Given the description of an element on the screen output the (x, y) to click on. 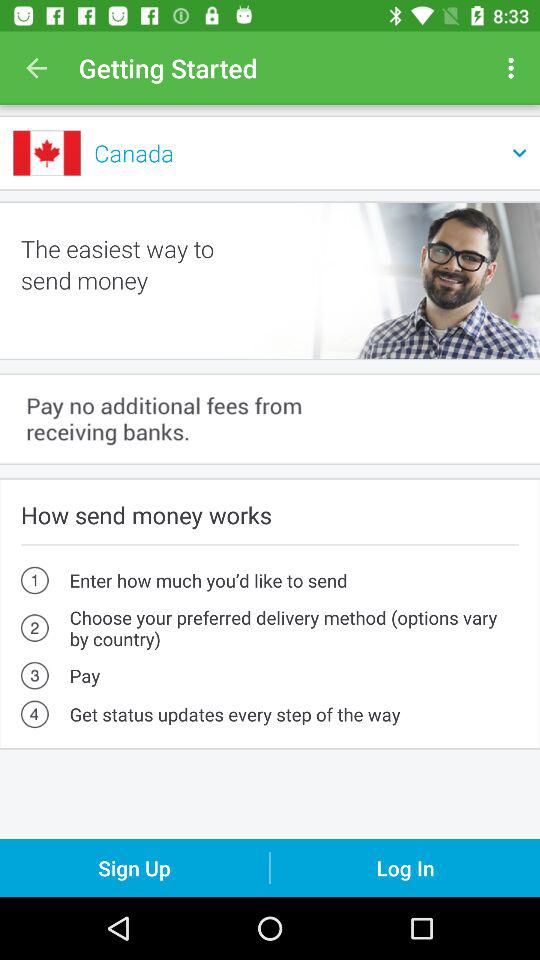
open the icon to the right of getting started icon (513, 67)
